Given the description of an element on the screen output the (x, y) to click on. 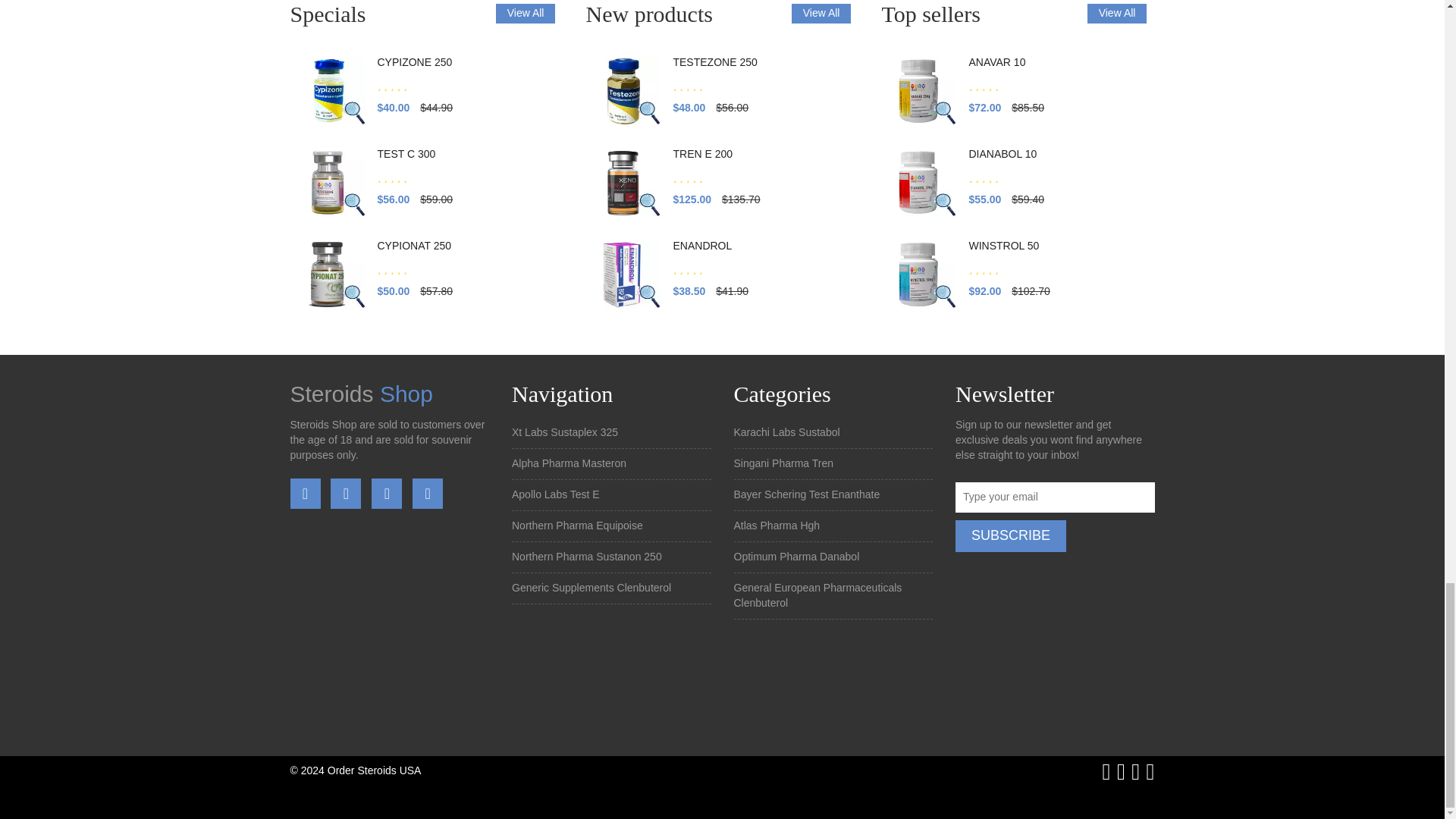
Subscribe (1010, 536)
